Given the description of an element on the screen output the (x, y) to click on. 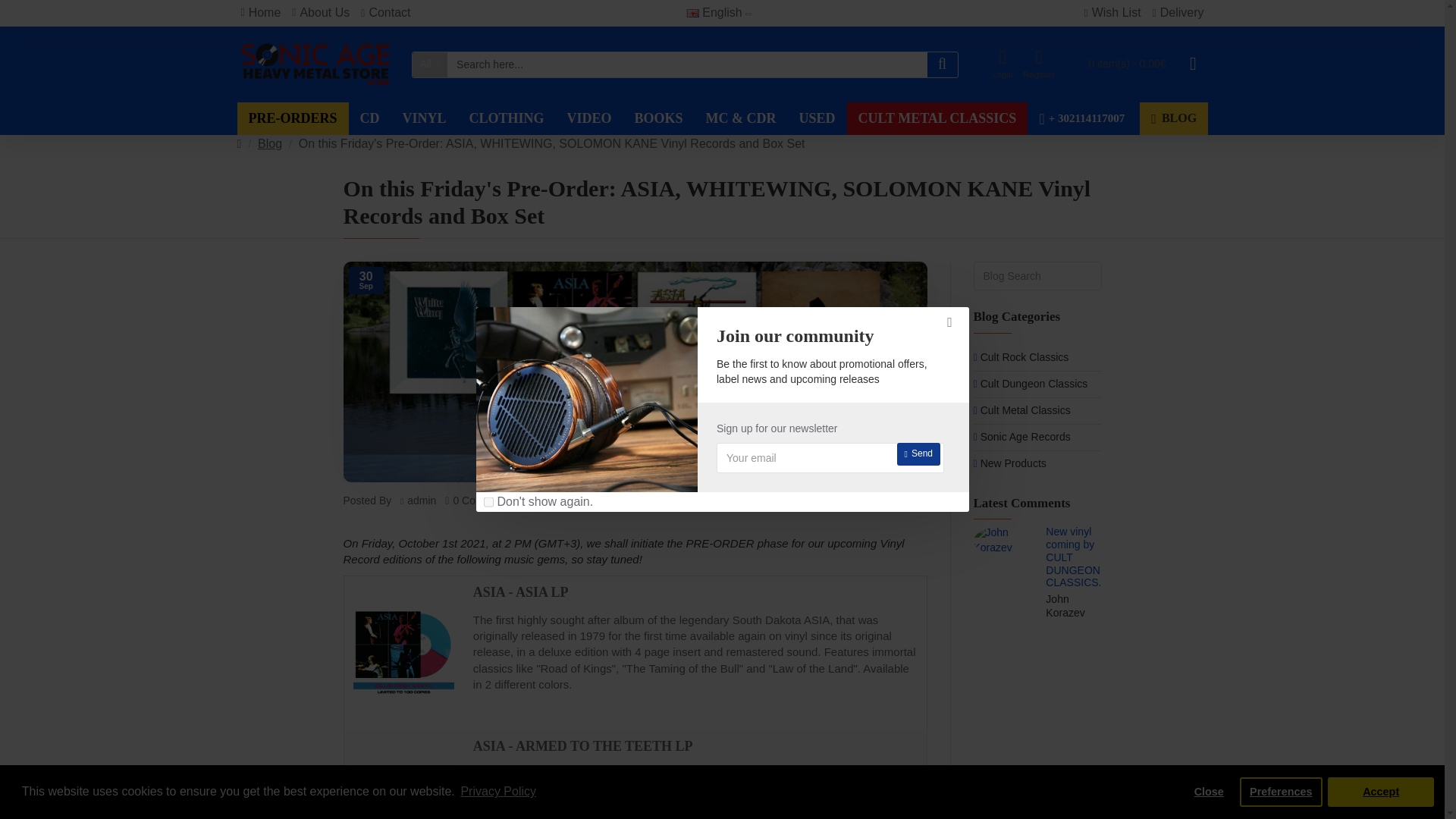
Accept (1380, 791)
Delivery (1178, 12)
Close (1208, 791)
About Us (320, 13)
Home (259, 13)
Wish List (1112, 12)
English (713, 13)
Privacy Policy (498, 791)
Contact (384, 13)
PRE-ORDERS (291, 118)
Send (918, 454)
Preferences (1281, 791)
Register (1039, 64)
English (691, 13)
